Given the description of an element on the screen output the (x, y) to click on. 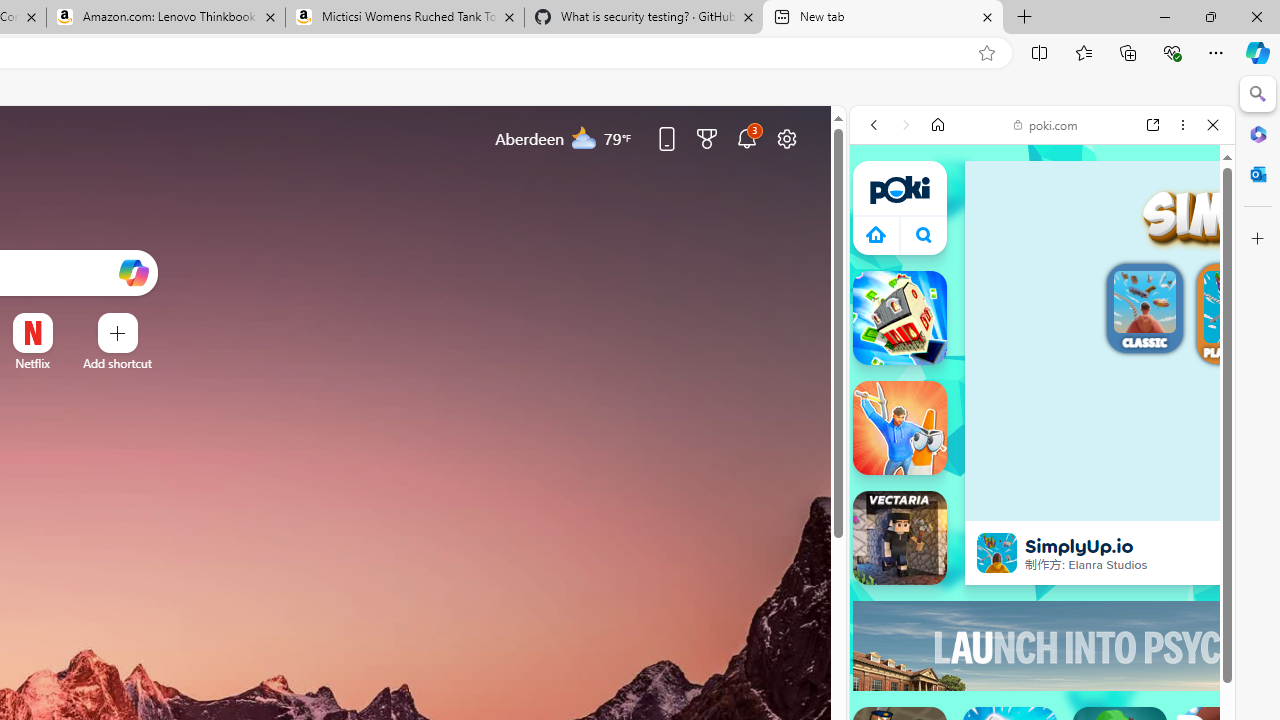
Simply Prop Hunt (899, 427)
Stack City Stack City (899, 317)
Mostly cloudy (584, 137)
Shooting Games (1042, 553)
Netflix (32, 363)
Io Games (1042, 651)
poki.com (1046, 124)
